Given the description of an element on the screen output the (x, y) to click on. 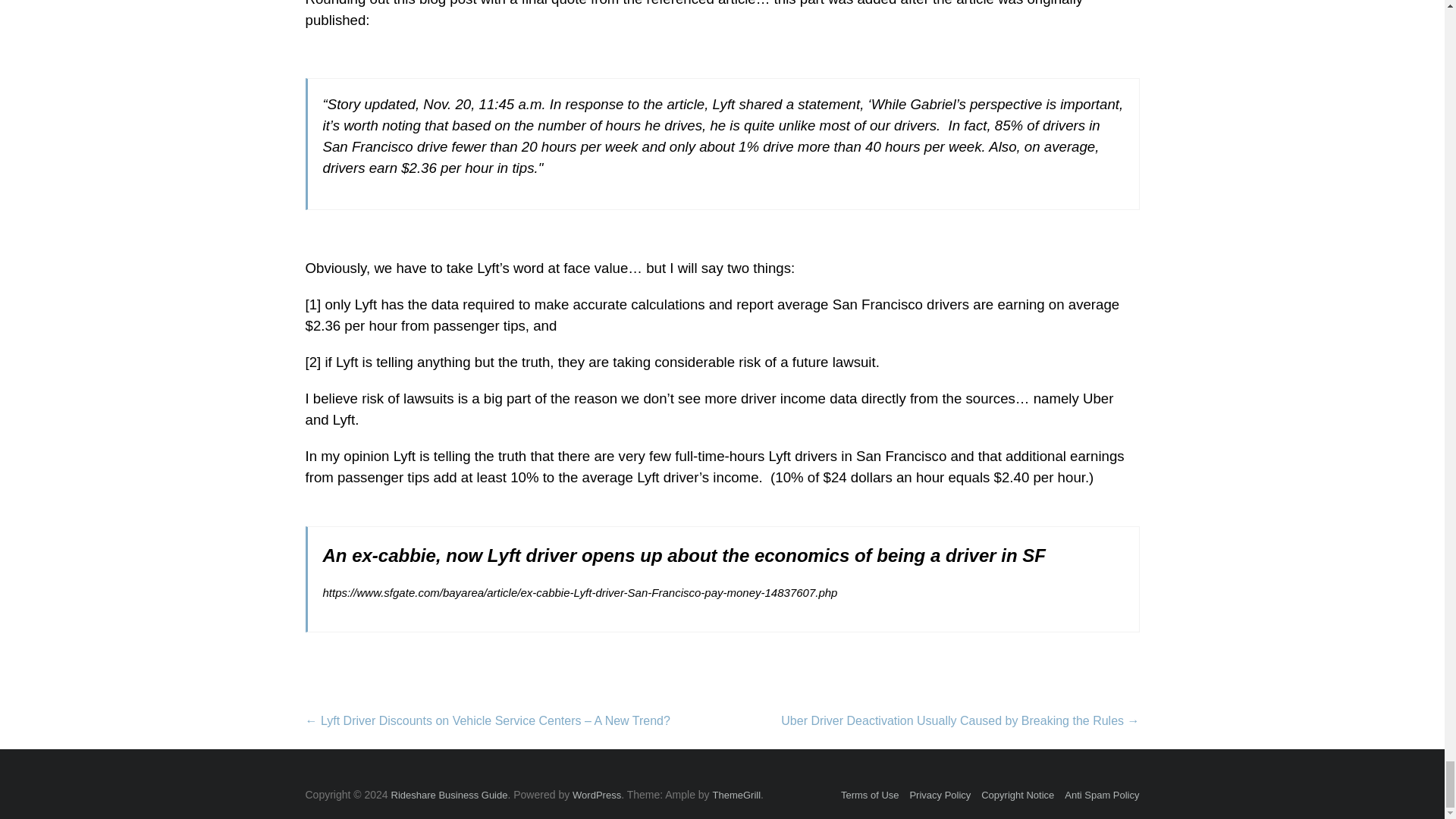
Rideshare Business Guide (449, 794)
ThemeGrill (737, 794)
Anti Spam Policy (1101, 794)
Terms of Use (870, 794)
WordPress (596, 794)
WordPress (596, 794)
Rideshare Business Guide (449, 794)
Copyright Notice (1017, 794)
Privacy Policy (939, 794)
ThemeGrill (737, 794)
